Given the description of an element on the screen output the (x, y) to click on. 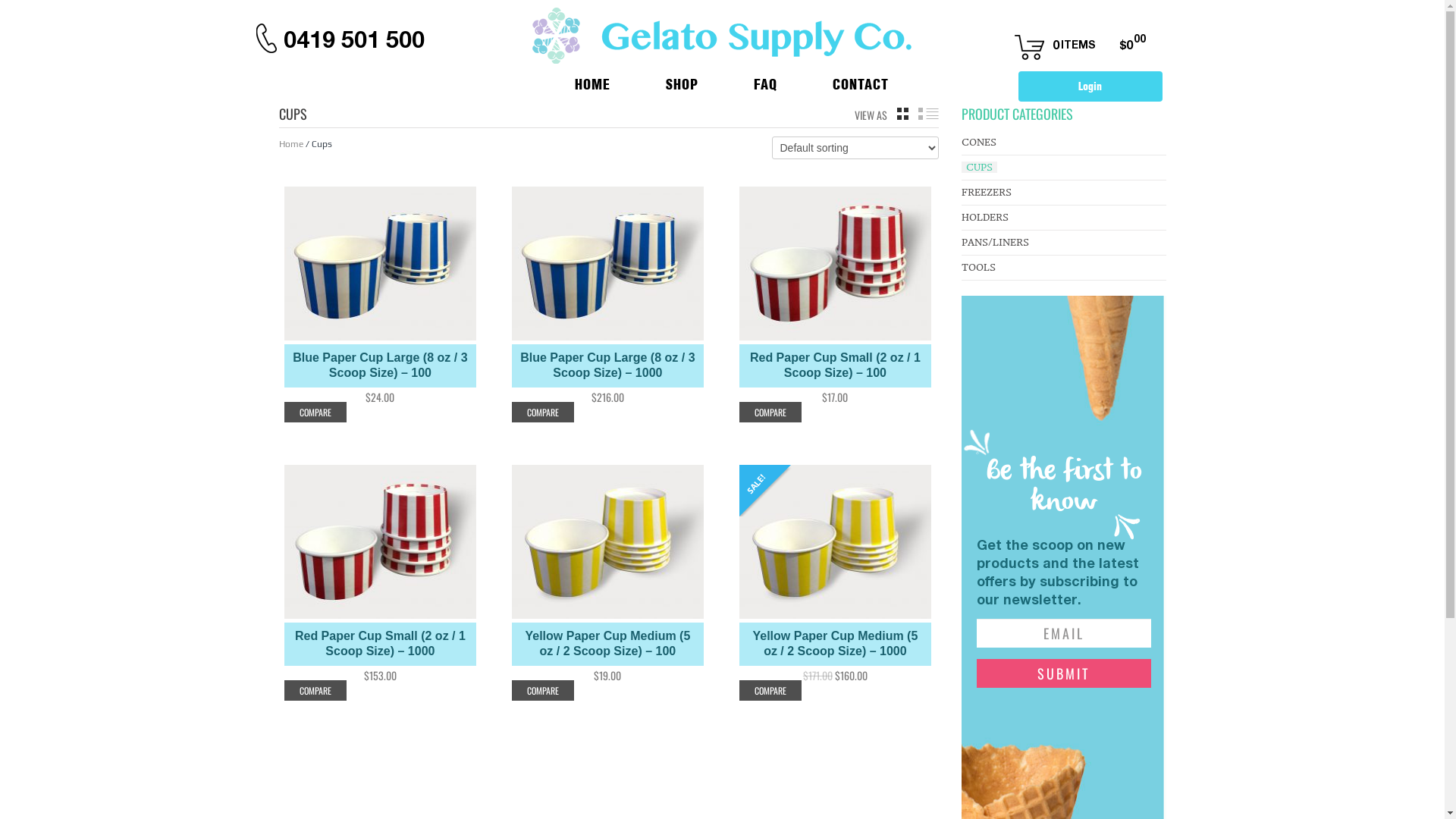
COMPARE Element type: text (542, 690)
CONTACT Element type: text (845, 82)
Gelato Supply Co. Element type: hover (721, 35)
HOME Element type: text (577, 82)
FAQ Element type: text (750, 82)
TOOLS Element type: text (978, 267)
COMPARE Element type: text (542, 411)
HOLDERS Element type: text (984, 216)
Home Element type: text (291, 143)
Login Element type: text (1089, 86)
COMPARE Element type: text (314, 690)
COMPARE Element type: text (769, 411)
0419 501 500 Element type: text (353, 39)
GRID Element type: text (901, 113)
LIST Element type: text (927, 113)
Submit Element type: text (1063, 672)
CUPS Element type: text (979, 166)
SHOP Element type: text (666, 82)
Gelato Supply Co. Element type: hover (721, 34)
CONES Element type: text (978, 141)
PANS/LINERS Element type: text (995, 241)
COMPARE Element type: text (769, 690)
COMPARE Element type: text (314, 411)
FREEZERS Element type: text (986, 191)
